Given the description of an element on the screen output the (x, y) to click on. 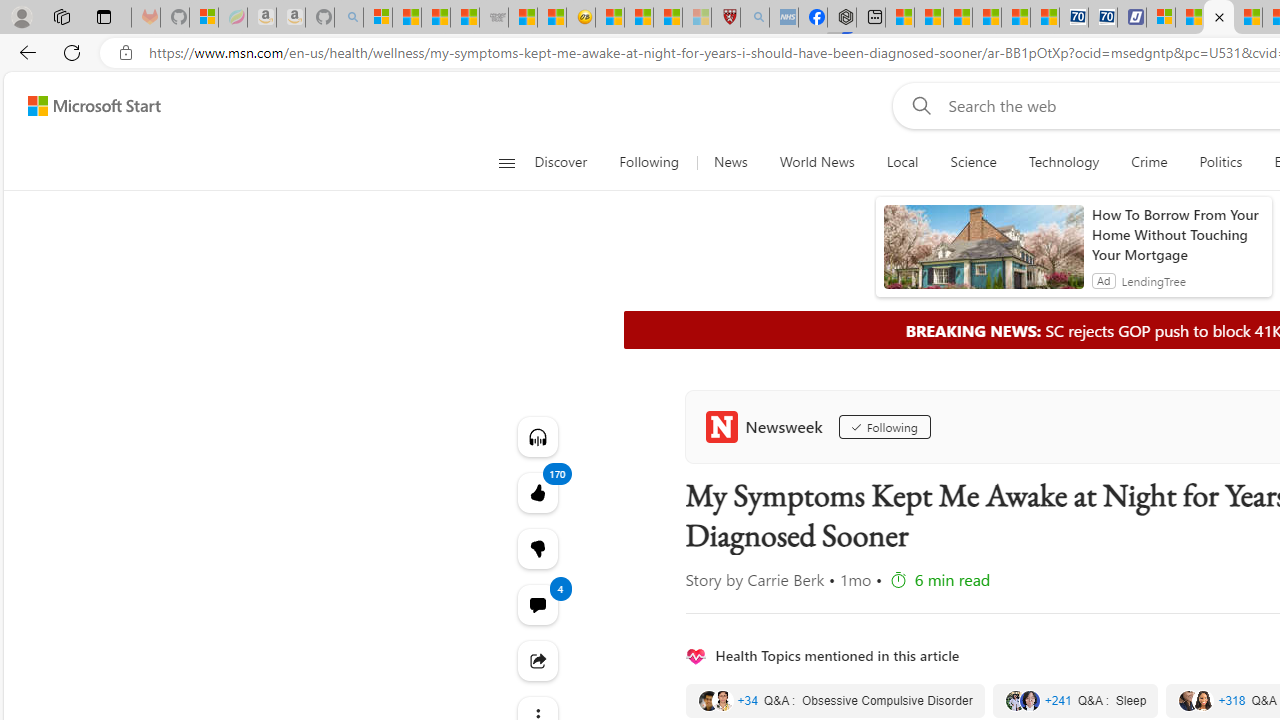
Listen to this article (537, 436)
News (729, 162)
MSNBC - MSN (436, 17)
View comments 4 Comment (537, 604)
Share this story (537, 660)
Science - MSN (668, 17)
Cheap Car Rentals - Save70.com (1073, 17)
Technology (1064, 162)
Robert H. Shmerling, MD - Harvard Health (725, 17)
Web search (917, 105)
Dislike (537, 548)
